Given the description of an element on the screen output the (x, y) to click on. 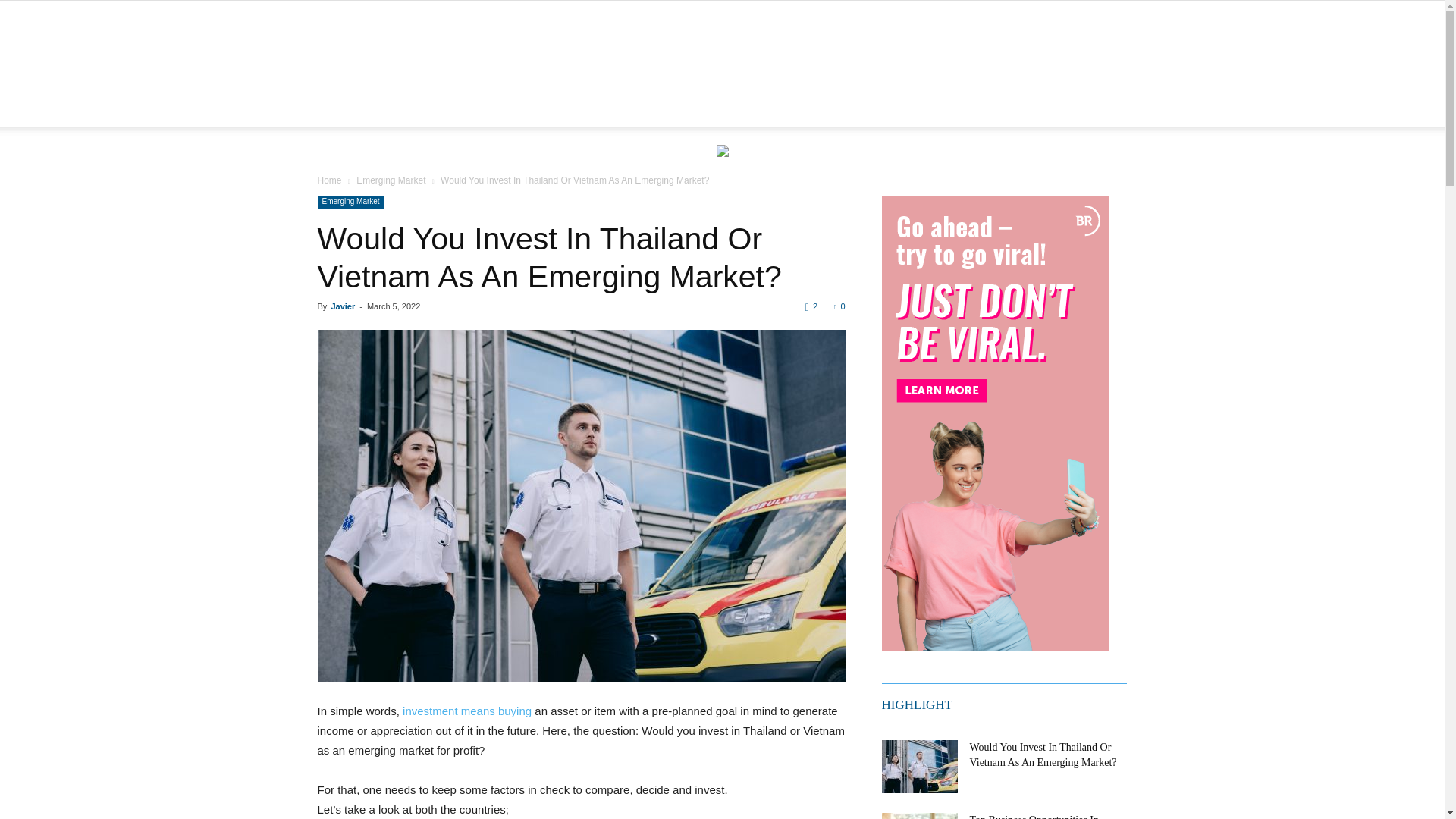
Emerging Market (390, 180)
WRITE FOR US (682, 112)
View all posts in Emerging Market (390, 180)
Javier (342, 306)
Emerging Market (350, 201)
0 (839, 306)
HOME (347, 112)
NEWS FEED (422, 112)
investment means buying (467, 710)
Home (328, 180)
Search (1085, 168)
Top Business Opportunities In Thailand! (918, 816)
Doing Business In Thailand (722, 50)
